Given the description of an element on the screen output the (x, y) to click on. 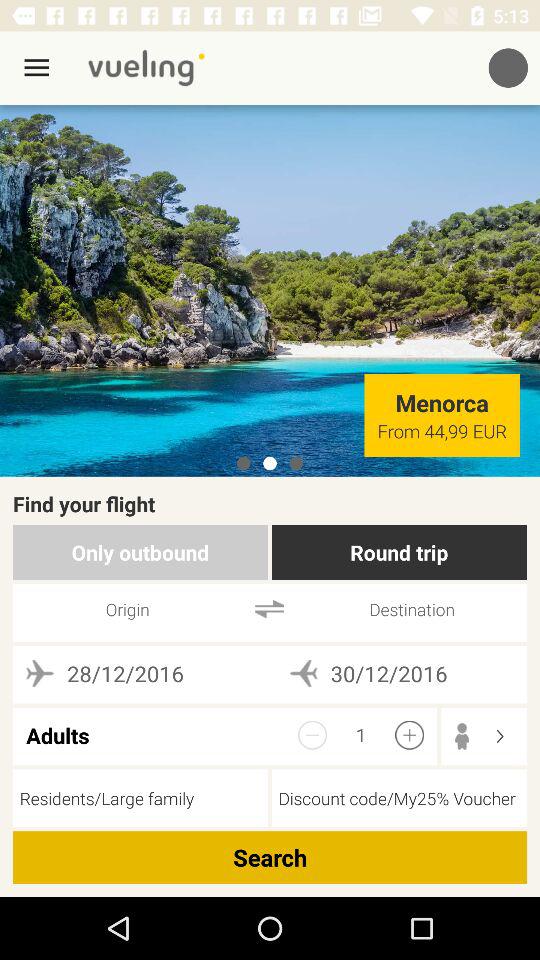
press round trip icon (398, 552)
